Given the description of an element on the screen output the (x, y) to click on. 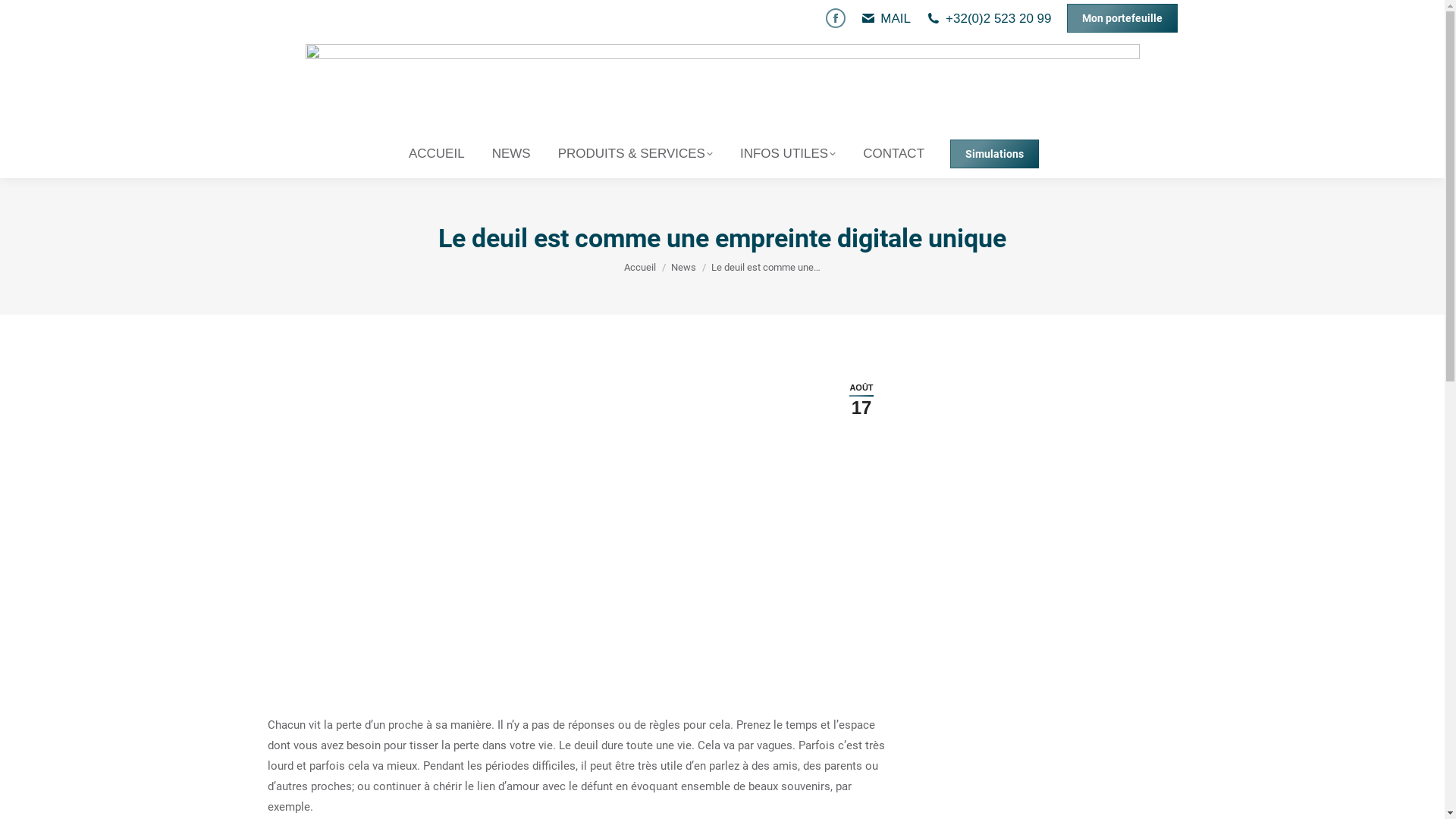
Simulations Element type: text (994, 153)
PRODUITS & SERVICES Element type: text (635, 153)
News Element type: text (683, 266)
NEWS Element type: text (511, 153)
CONTACT Element type: text (893, 153)
MAIL Element type: text (895, 17)
Accueil Element type: text (639, 266)
Mon portefeuille Element type: text (1121, 17)
ACCUEIL Element type: text (436, 153)
INFOS UTILES Element type: text (787, 153)
